Given the description of an element on the screen output the (x, y) to click on. 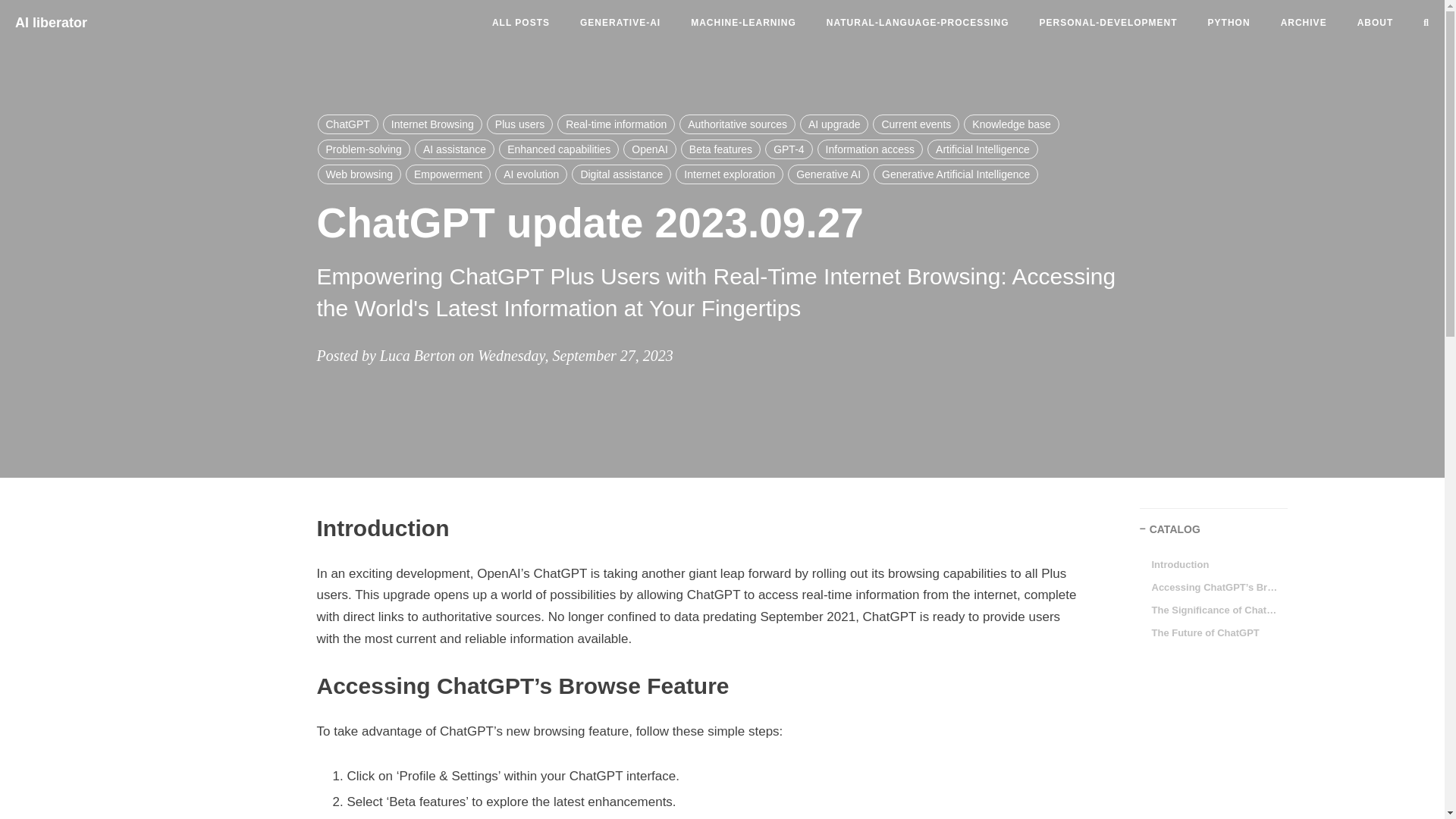
GENERATIVE-AI (619, 22)
Generative AI (828, 174)
Introduction (1175, 564)
NATURAL-LANGUAGE-PROCESSING (917, 22)
Artificial Intelligence (982, 148)
Authoritative sources (736, 124)
ALL POSTS (520, 22)
OpenAI (649, 148)
Digital assistance (621, 174)
Enhanced capabilities (558, 148)
